Given the description of an element on the screen output the (x, y) to click on. 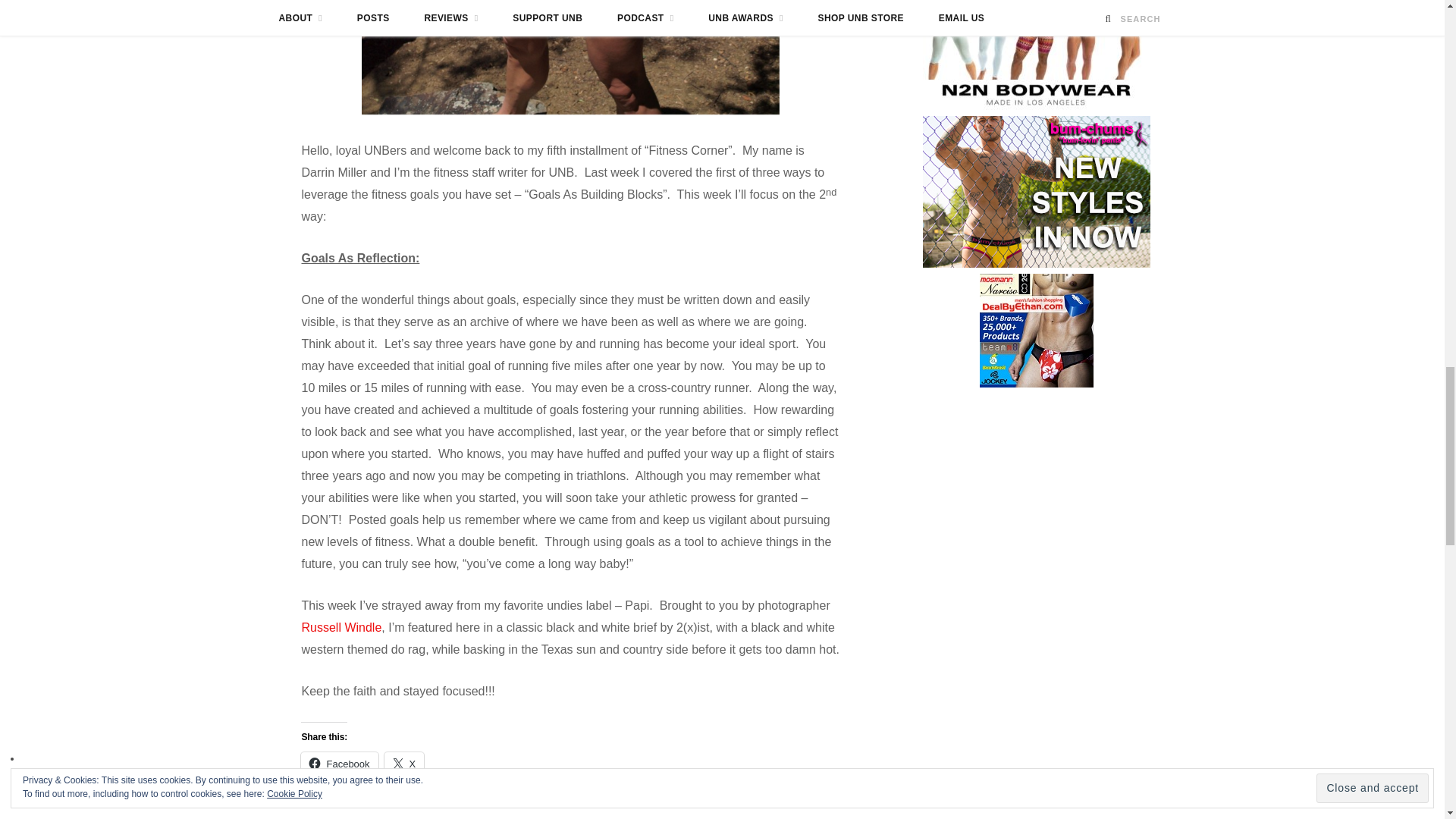
Click to share on X (404, 763)
Click to share on Facebook (339, 763)
